Given the description of an element on the screen output the (x, y) to click on. 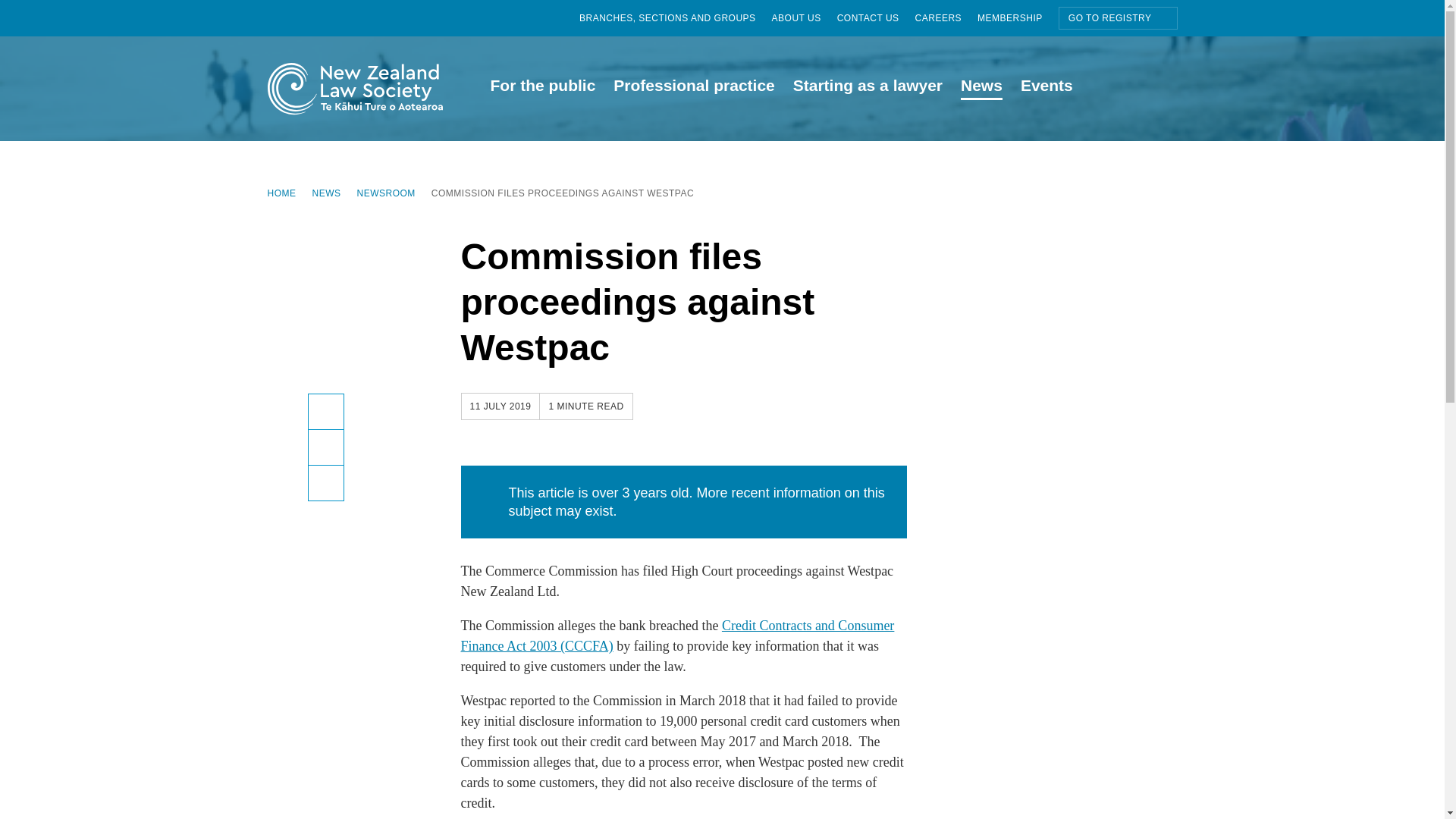
CONTACT US (876, 18)
GO TO REGISTRY (1117, 17)
Professional practice (693, 88)
BRANCHES, SECTIONS AND GROUPS (675, 18)
MEMBERSHIP (1017, 18)
ABOUT US (804, 18)
For the public (542, 88)
CAREERS (946, 18)
